Given the description of an element on the screen output the (x, y) to click on. 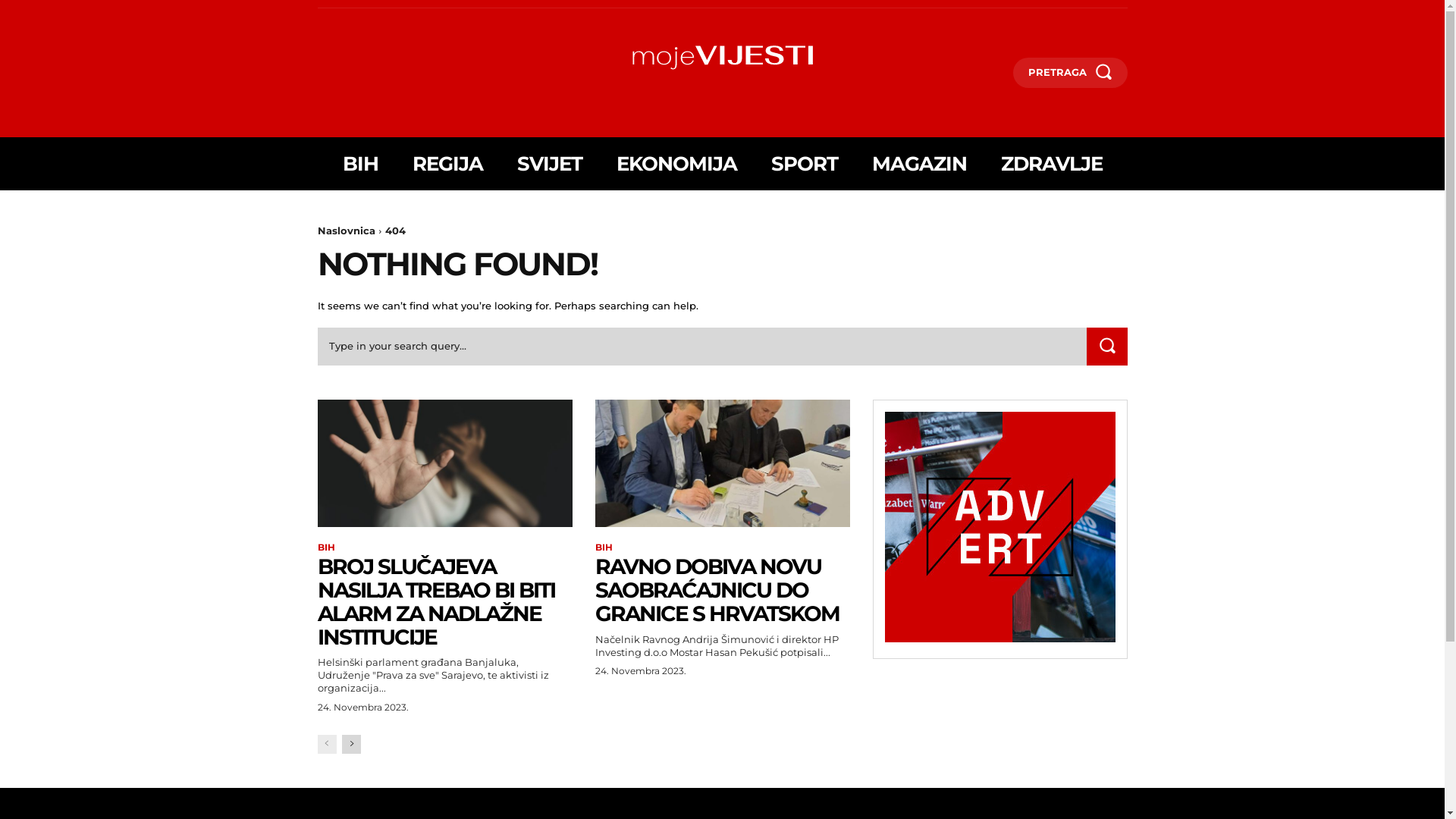
EKONOMIJA Element type: text (675, 163)
REGIJA Element type: text (447, 163)
BIH Element type: text (360, 163)
ZDRAVLJE Element type: text (1051, 163)
PRETRAGA Element type: text (1070, 72)
BIH Element type: text (325, 547)
MAGAZIN Element type: text (919, 163)
Naslovnica Element type: text (345, 230)
SPORT Element type: text (803, 163)
BIH Element type: text (602, 547)
SVIJET Element type: text (549, 163)
